Given the description of an element on the screen output the (x, y) to click on. 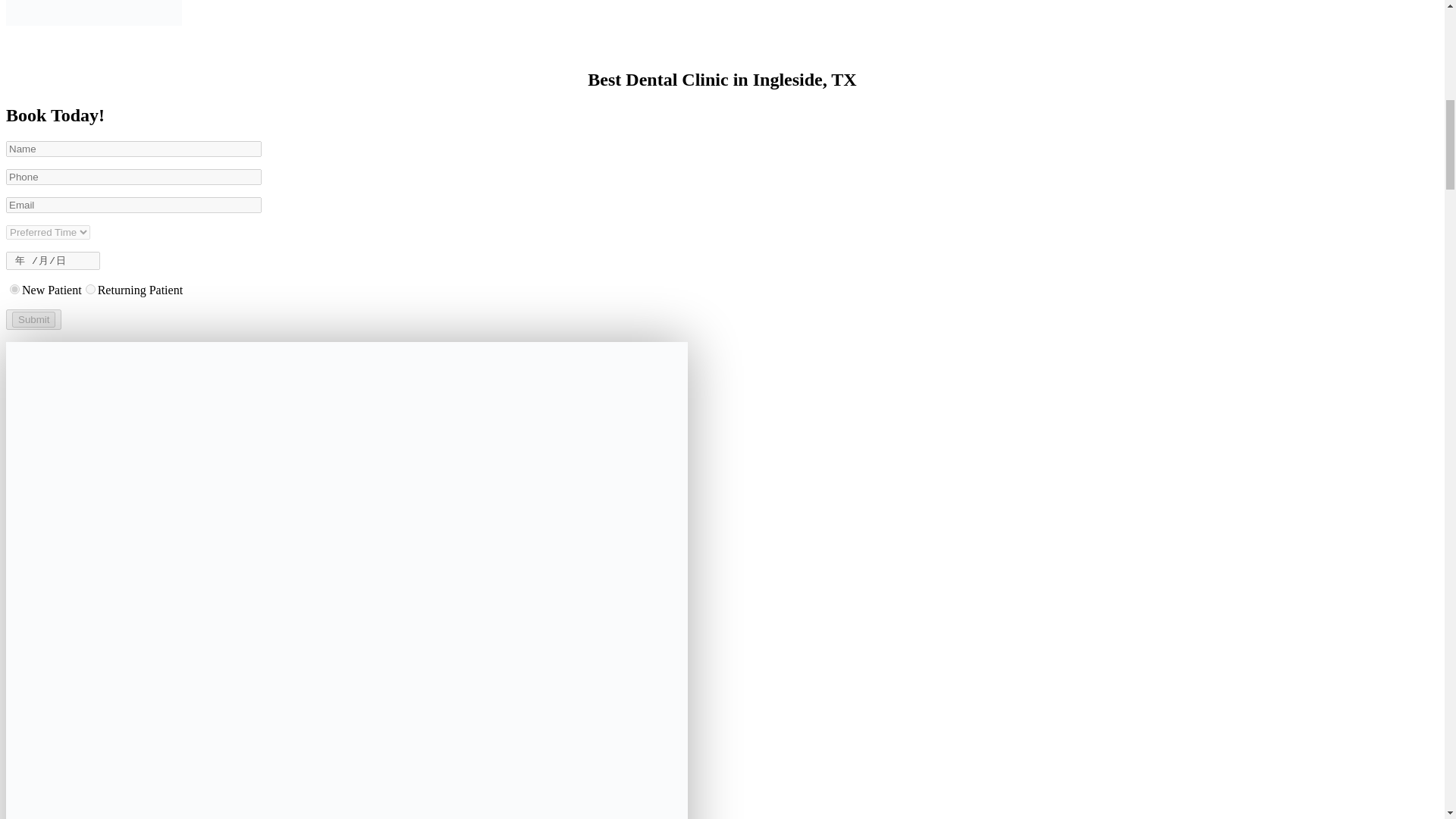
Returning Patient (90, 289)
New Patient (15, 289)
Submit (33, 319)
